Given the description of an element on the screen output the (x, y) to click on. 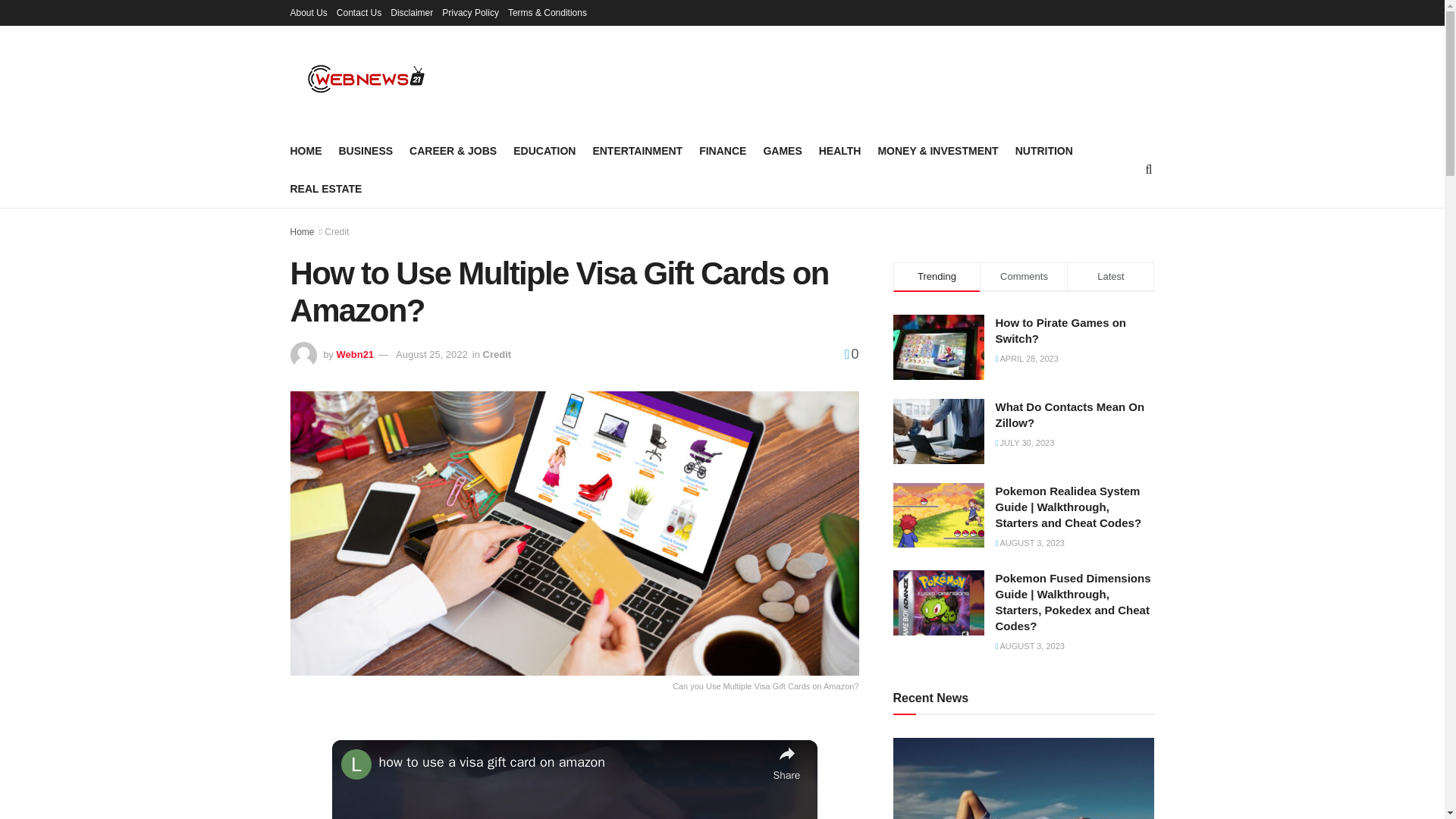
About Us (307, 12)
Contact Us (358, 12)
BUSINESS (365, 150)
Disclaimer (411, 12)
Privacy Policy (470, 12)
ENTERTAINMENT (637, 150)
Home (301, 231)
FINANCE (721, 150)
HEALTH (839, 150)
REAL ESTATE (325, 188)
Webn21 (355, 354)
GAMES (782, 150)
EDUCATION (544, 150)
HOME (305, 150)
Credit (336, 231)
